Given the description of an element on the screen output the (x, y) to click on. 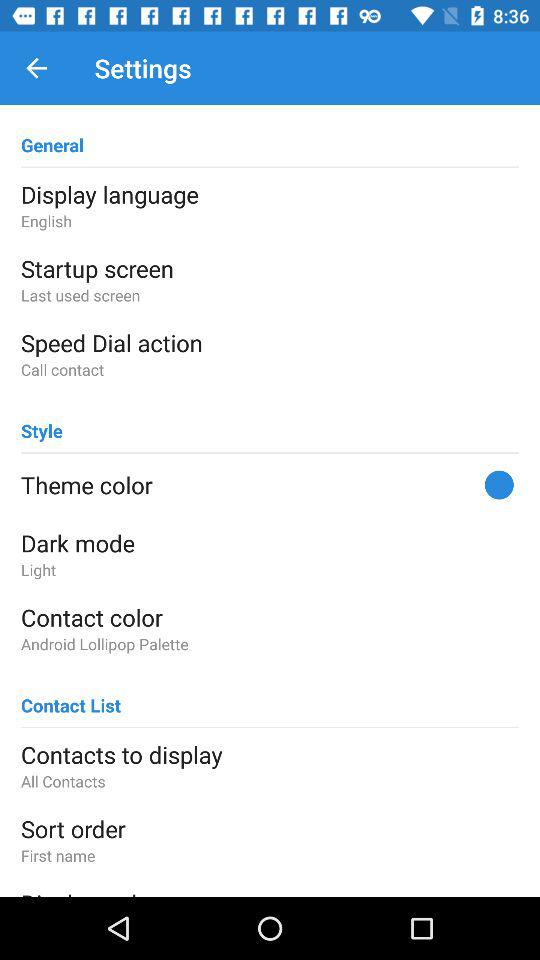
press all contacts icon (270, 780)
